Given the description of an element on the screen output the (x, y) to click on. 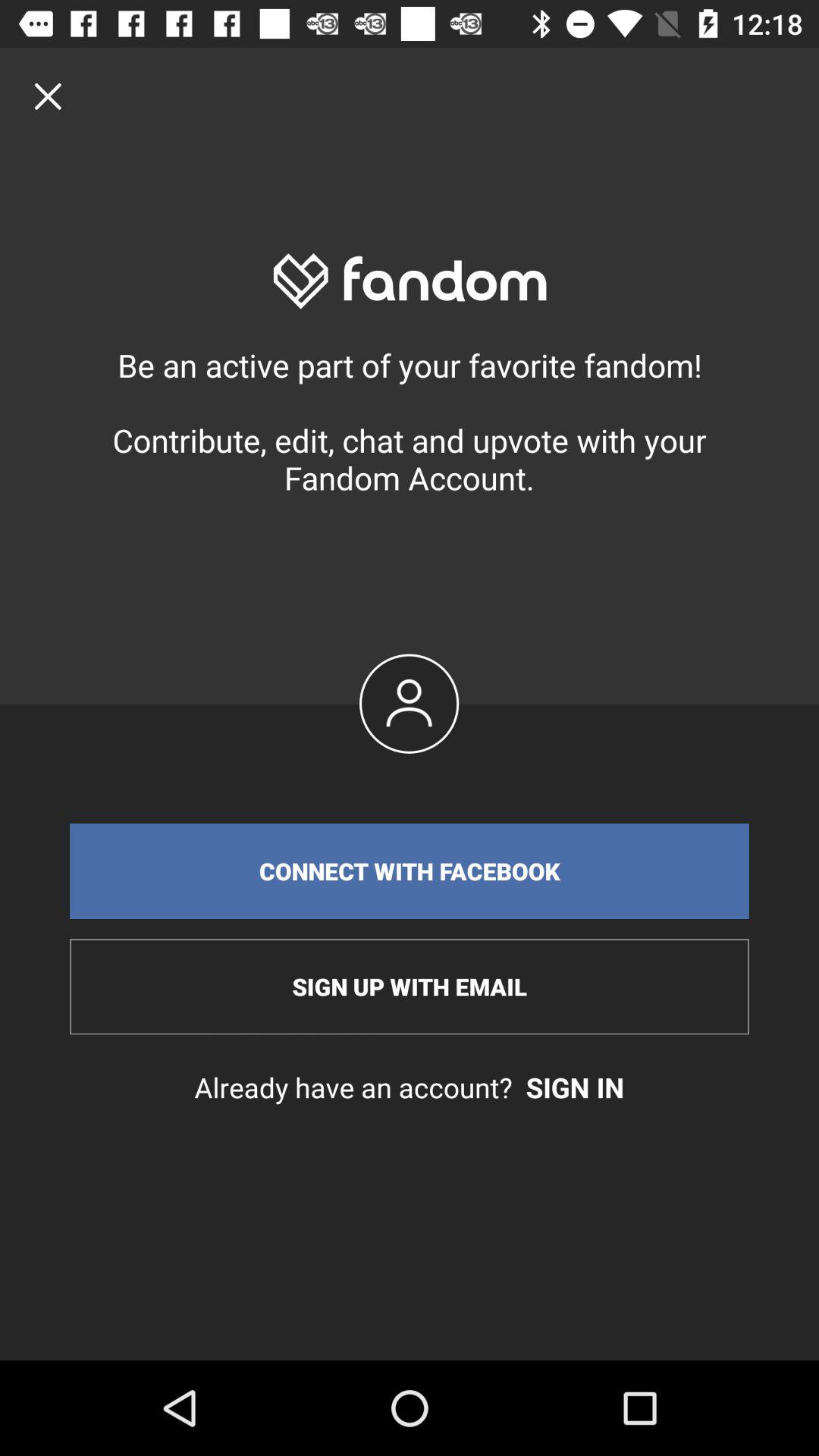
choose item above sign up with item (409, 871)
